Given the description of an element on the screen output the (x, y) to click on. 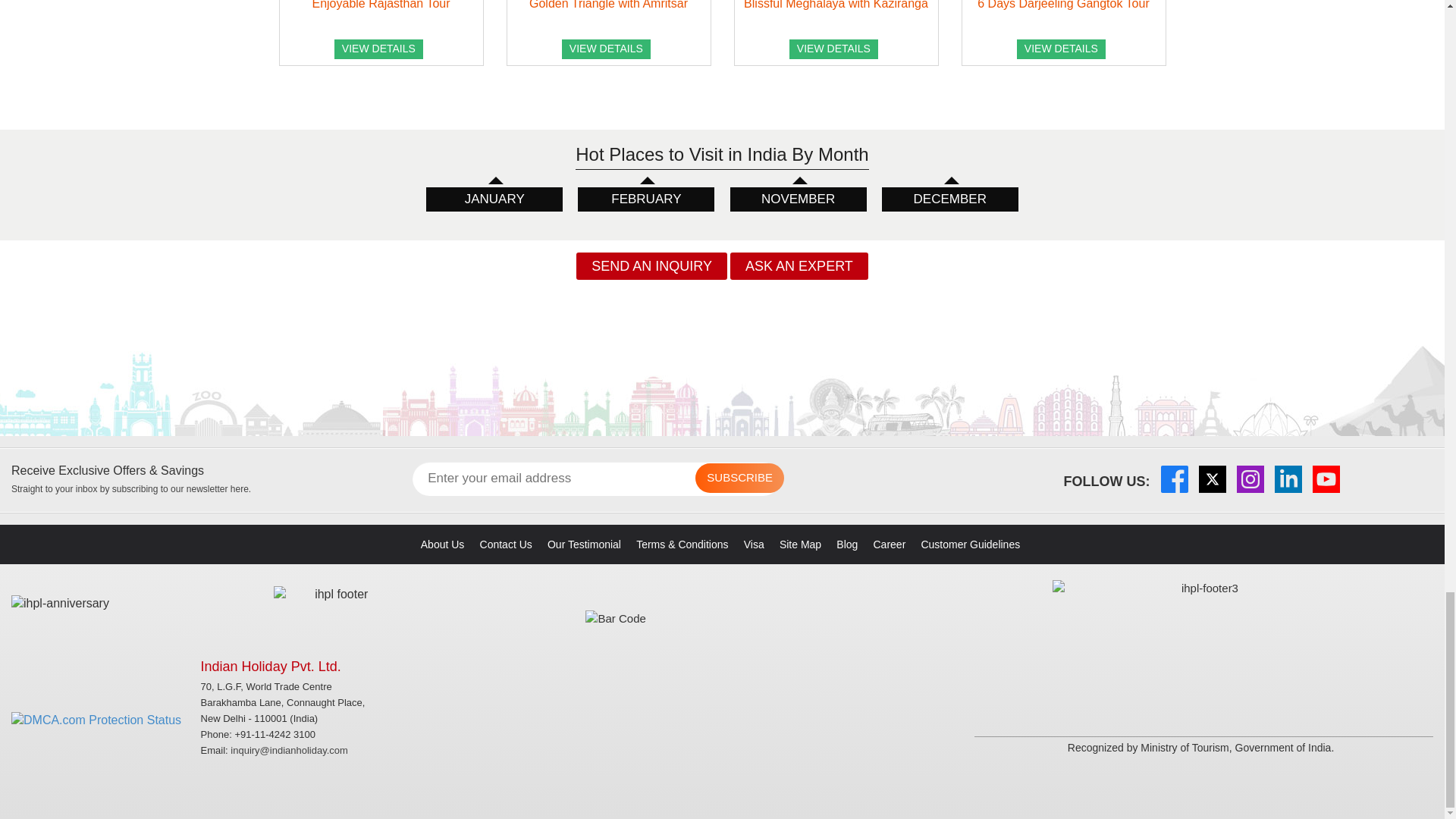
Subscribe (739, 478)
DMCA.com Protection Status (95, 715)
